Given the description of an element on the screen output the (x, y) to click on. 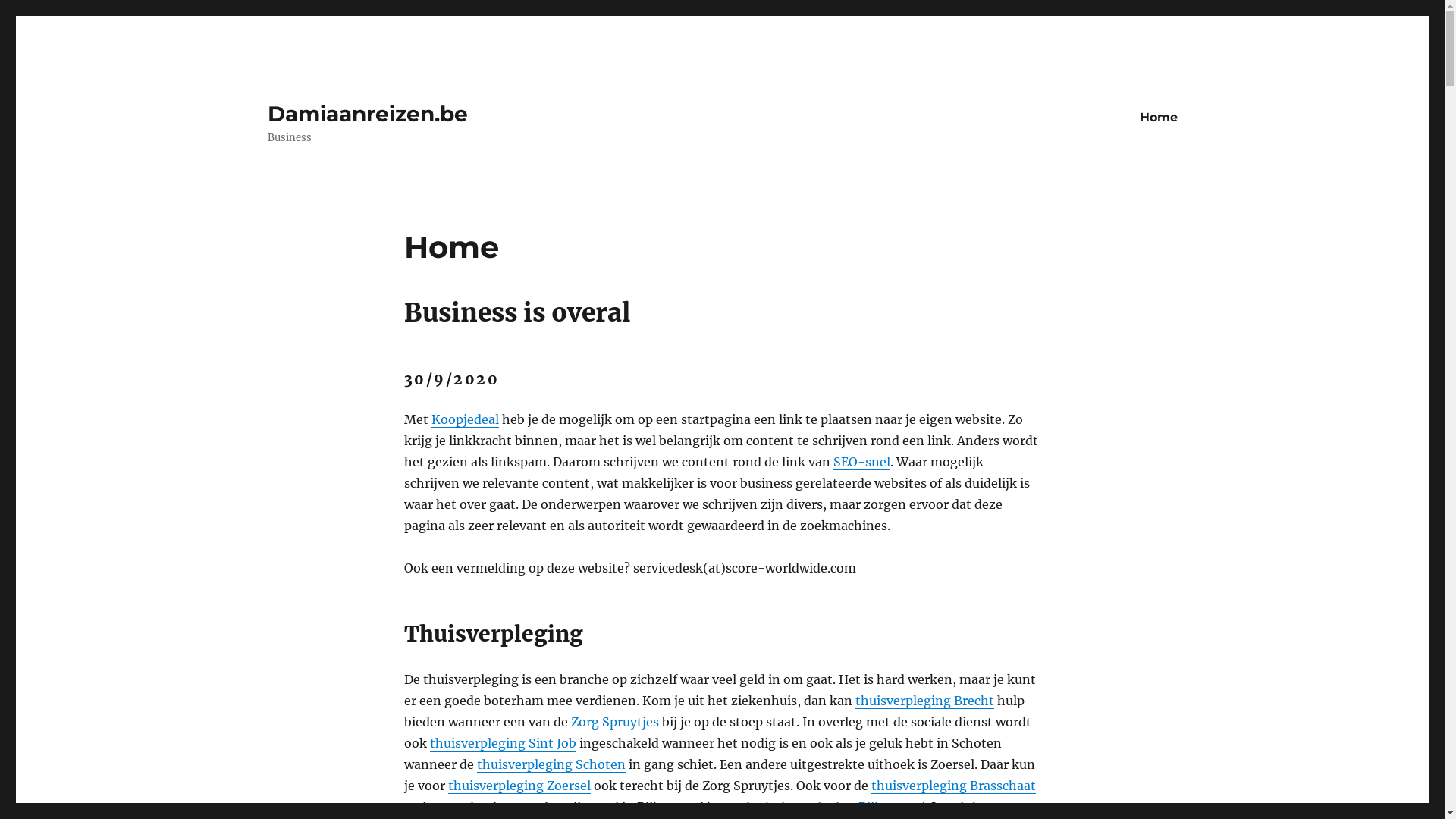
thuisverpleging Sint Job Element type: text (502, 742)
thuisverpleging Brecht Element type: text (924, 700)
SEO-snel Element type: text (860, 461)
Damiaanreizen.be Element type: text (366, 113)
Zorg Spruytjes Element type: text (614, 721)
Home Element type: text (1157, 116)
Koopjedeal Element type: text (464, 418)
thuisverpleging Rijkevorsel Element type: text (842, 806)
thuisverpleging Zoersel Element type: text (518, 785)
thuisverpleging Brasschaat Element type: text (952, 785)
thuisverpleging Schoten Element type: text (550, 763)
